Given the description of an element on the screen output the (x, y) to click on. 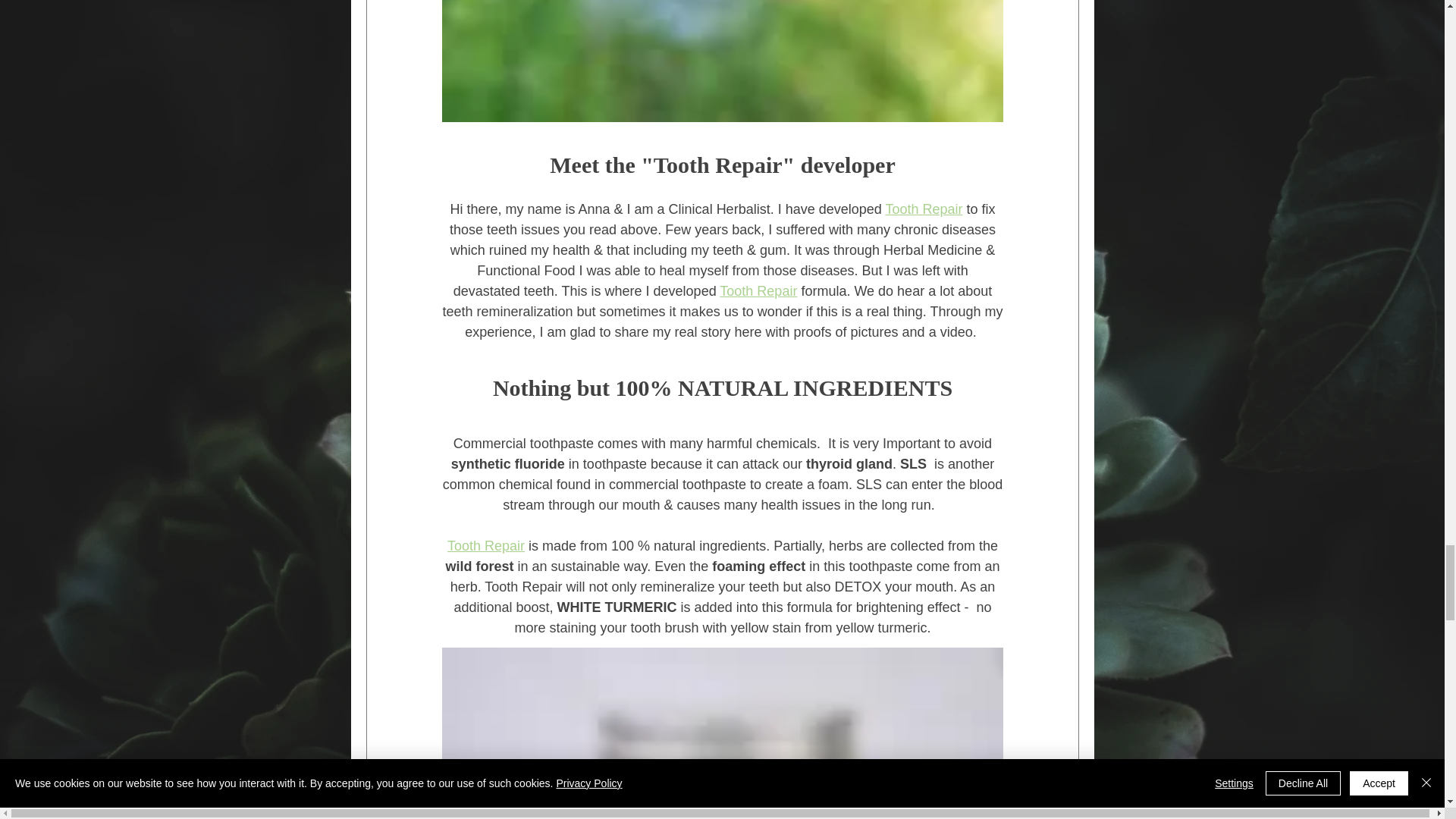
Tooth Repair (485, 545)
Tooth Repair (923, 209)
Tooth Repair (757, 290)
